Given the description of an element on the screen output the (x, y) to click on. 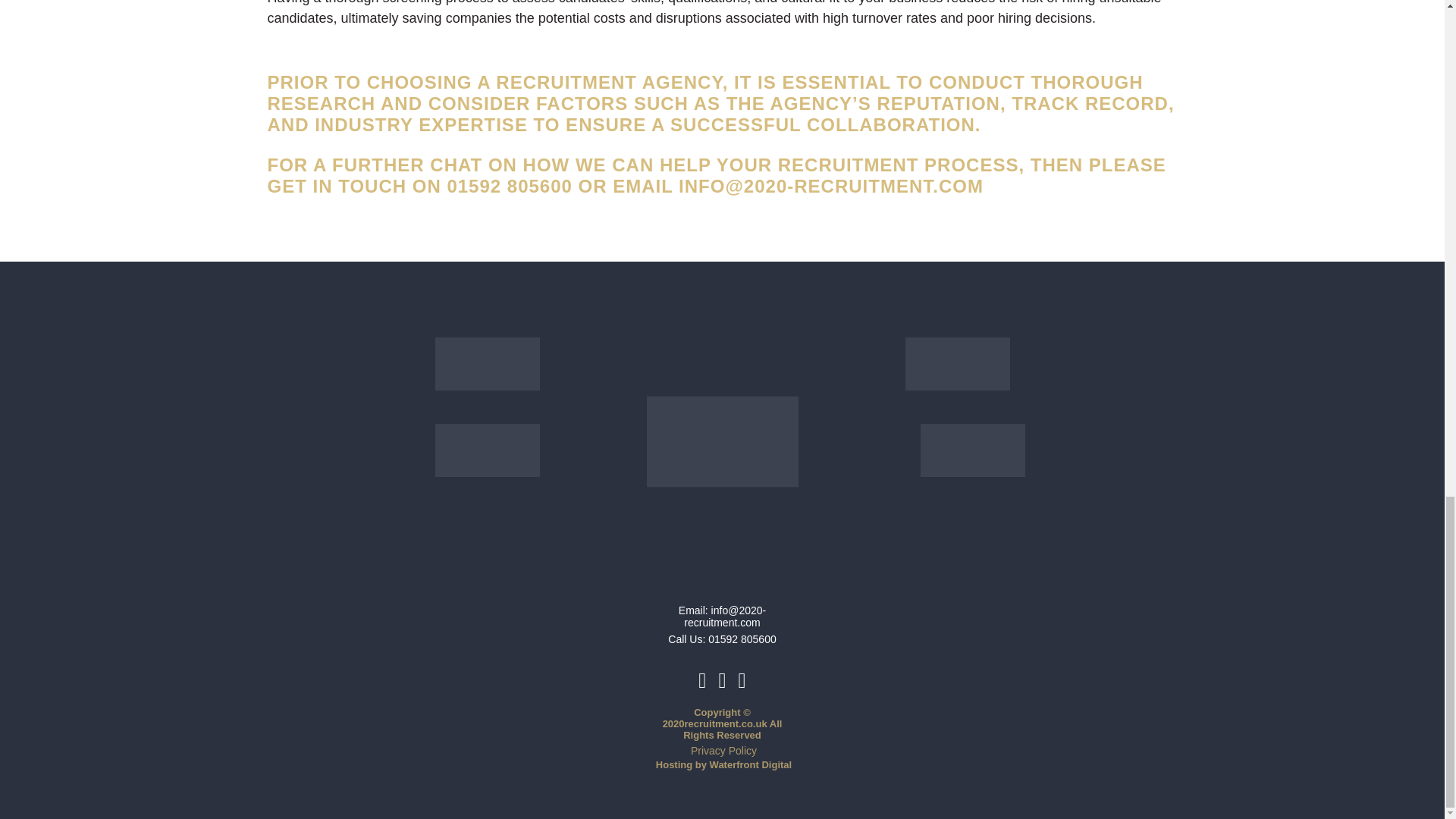
Privacy Policy (723, 750)
Waterfront Digital (751, 764)
